Given the description of an element on the screen output the (x, y) to click on. 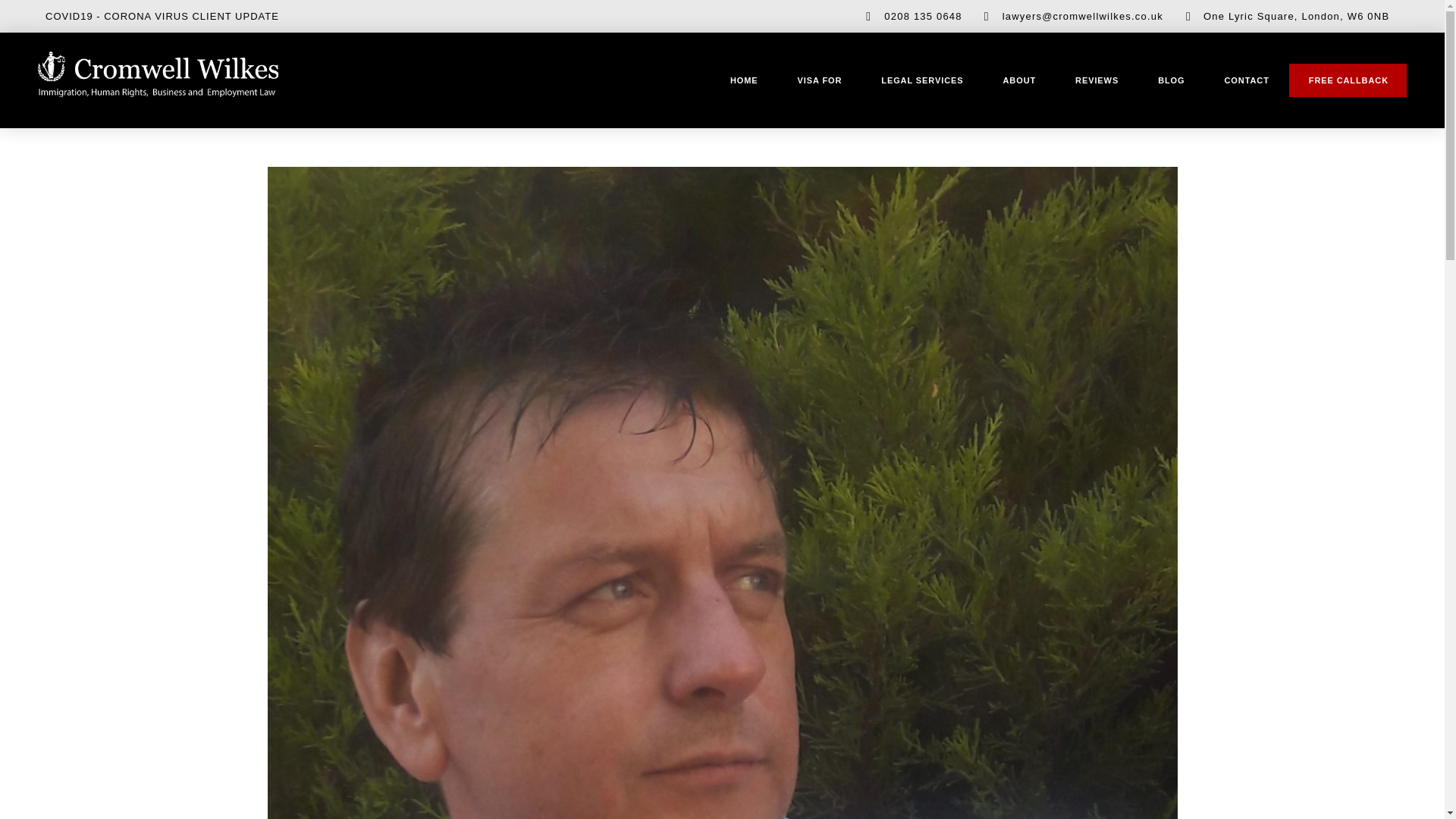
LEGAL SERVICES (922, 80)
BLOG (1171, 80)
CONTACT (1247, 80)
ABOUT (1019, 80)
0208 135 0648 (908, 16)
COVID19 - CORONA VIRUS CLIENT UPDATE (162, 16)
VISA FOR (819, 80)
FREE CALLBACK (1348, 80)
HOME (743, 80)
REVIEWS (1097, 80)
